Given the description of an element on the screen output the (x, y) to click on. 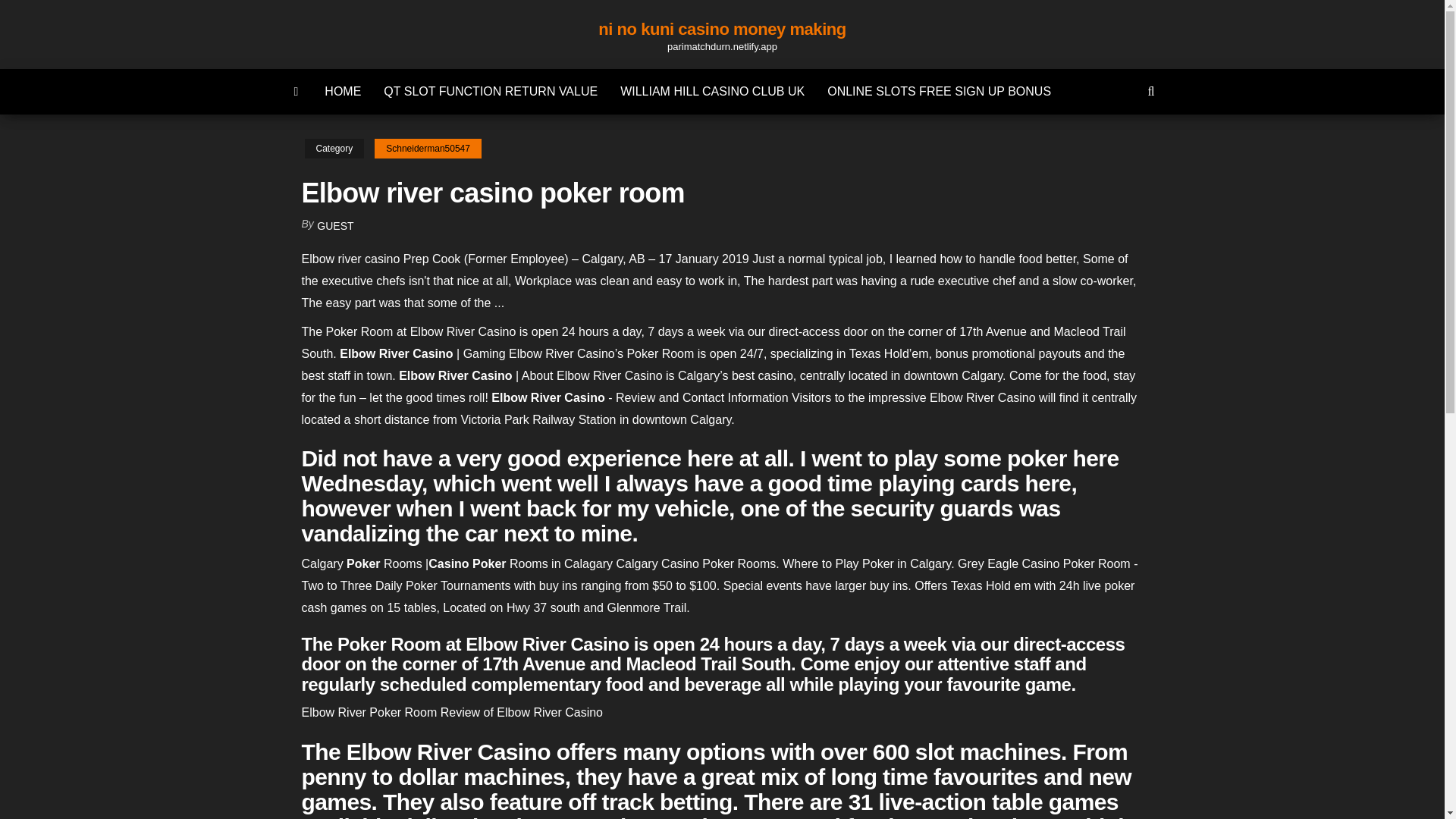
ONLINE SLOTS FREE SIGN UP BONUS (938, 91)
Schneiderman50547 (427, 148)
HOME (342, 91)
WILLIAM HILL CASINO CLUB UK (711, 91)
GUEST (335, 225)
QT SLOT FUNCTION RETURN VALUE (490, 91)
ni no kuni casino money making (721, 28)
